Given the description of an element on the screen output the (x, y) to click on. 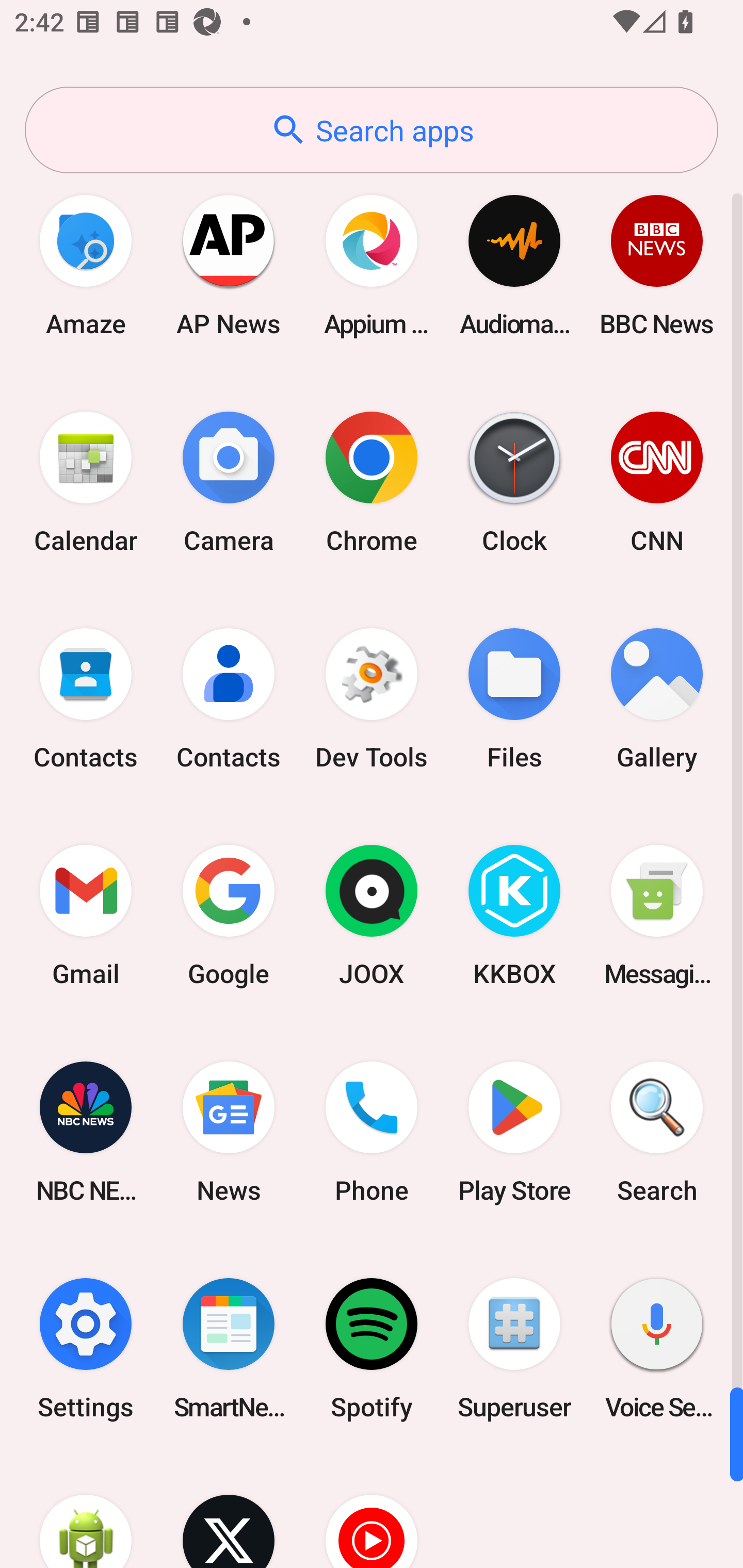
  Search apps (371, 130)
Amaze (85, 264)
AP News (228, 264)
Appium Settings (371, 264)
Audio­mack (514, 264)
BBC News (656, 264)
Calendar (85, 482)
Camera (228, 482)
Chrome (371, 482)
Clock (514, 482)
CNN (656, 482)
Contacts (85, 699)
Contacts (228, 699)
Dev Tools (371, 699)
Files (514, 699)
Gallery (656, 699)
Gmail (85, 915)
Google (228, 915)
JOOX (371, 915)
KKBOX (514, 915)
Messaging (656, 915)
NBC NEWS (85, 1131)
News (228, 1131)
Phone (371, 1131)
Play Store (514, 1131)
Search (656, 1131)
Settings (85, 1348)
SmartNews (228, 1348)
Spotify (371, 1348)
Superuser (514, 1348)
Voice Search (656, 1348)
WebView Browser Tester (85, 1512)
X (228, 1512)
YT Music (371, 1512)
